Given the description of an element on the screen output the (x, y) to click on. 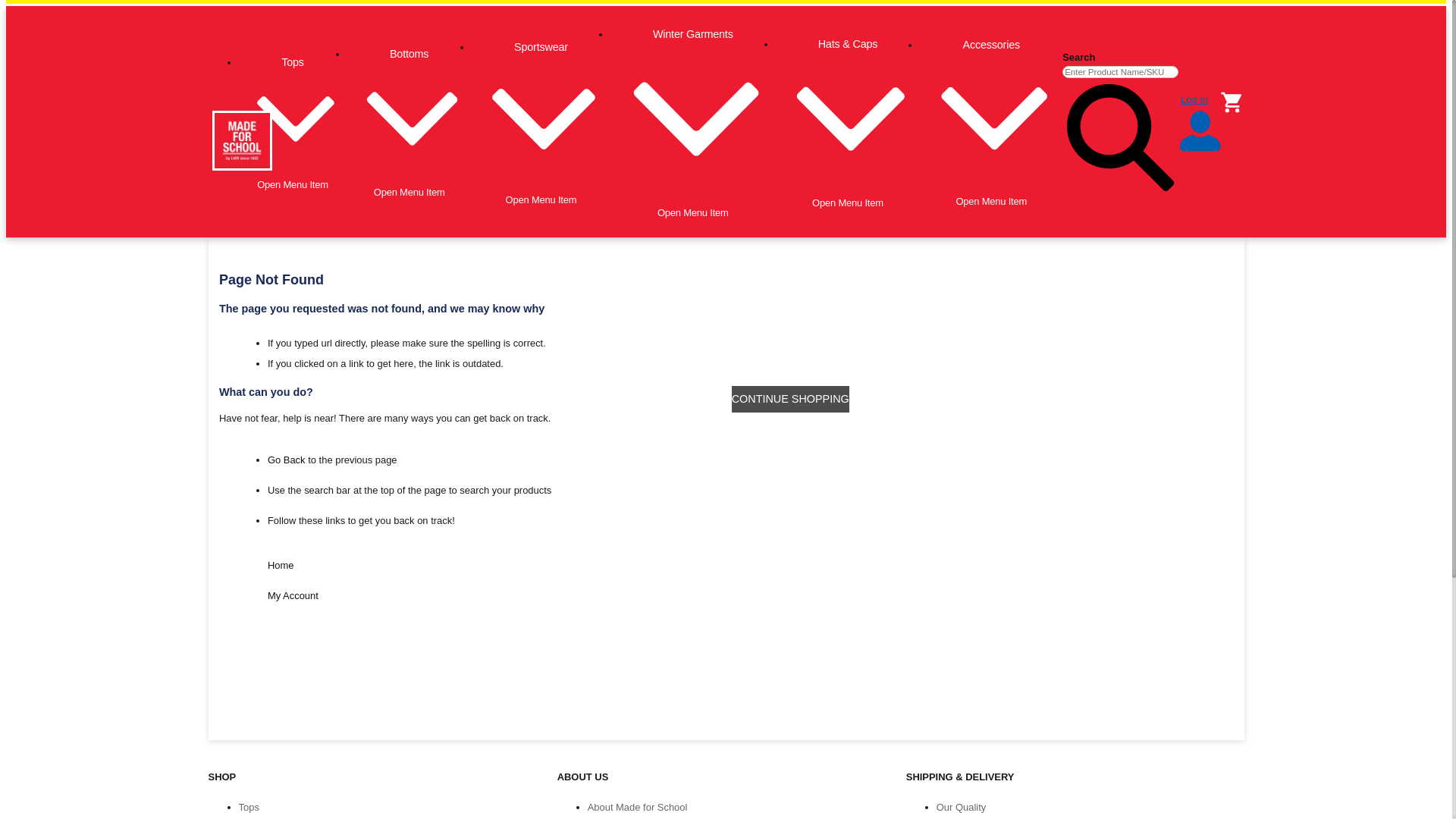
Our Quality Element type: text (961, 806)
TopsOpen Menu Item Element type: text (292, 123)
Log In Element type: text (1200, 123)
Home Element type: text (280, 565)
Hats & CapsOpen Menu Item Element type: text (847, 123)
Winter GarmentsOpen Menu Item Element type: text (692, 122)
My Account Element type: text (292, 595)
Go Back Element type: text (286, 459)
SportswearOpen Menu Item Element type: text (540, 122)
CONTINUE SHOPPING Element type: text (790, 398)
Empty Cart Element type: hover (1231, 102)
BottomsOpen Menu Item Element type: text (409, 123)
AccessoriesOpen Menu Item Element type: text (990, 123)
Tops Element type: text (248, 806)
About Made for School Element type: text (637, 806)
